Given the description of an element on the screen output the (x, y) to click on. 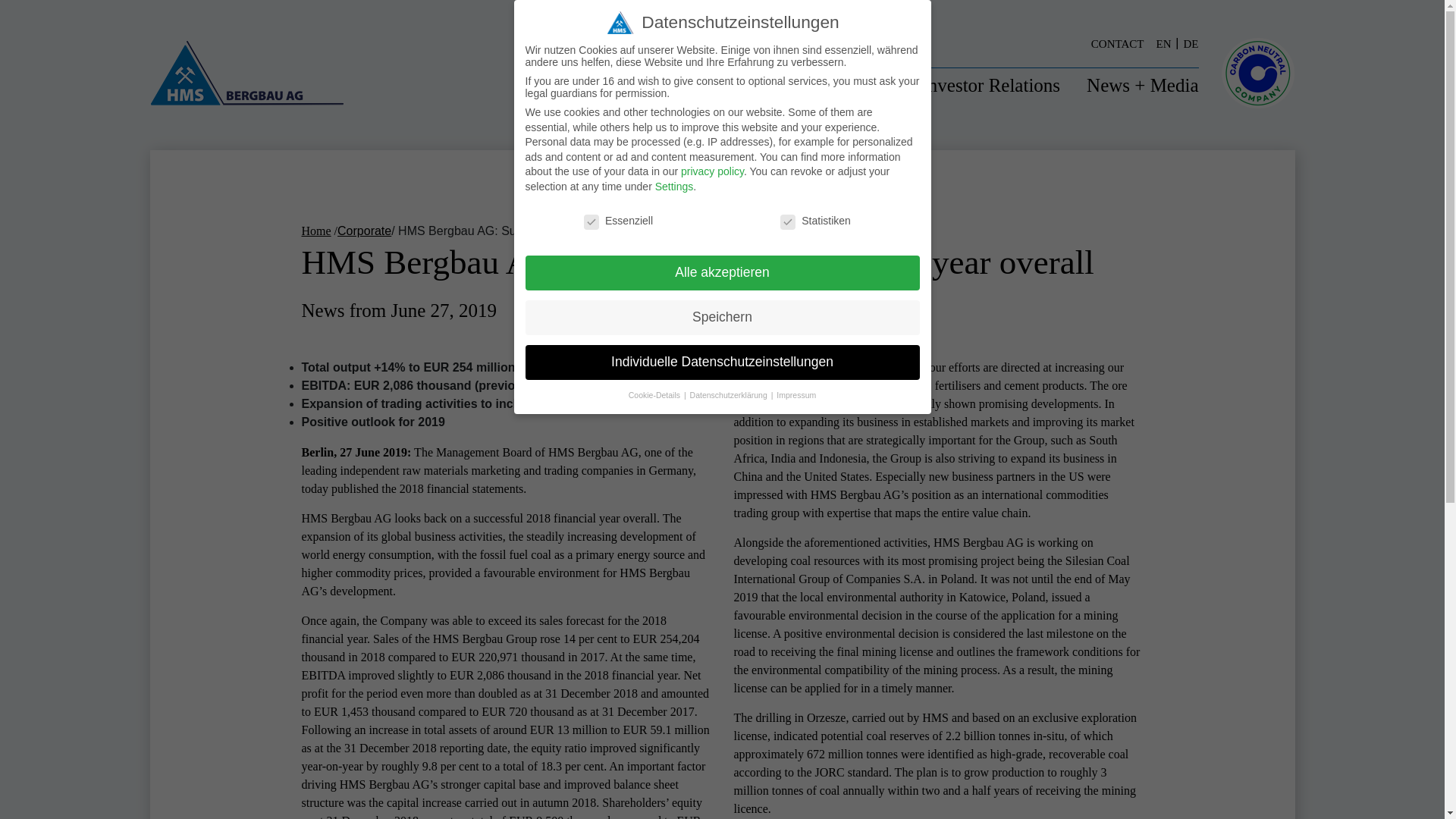
Investor Relations (990, 85)
CONTACT (1123, 44)
EN (1169, 44)
Business (861, 85)
Company (763, 85)
EN (1169, 44)
